Given the description of an element on the screen output the (x, y) to click on. 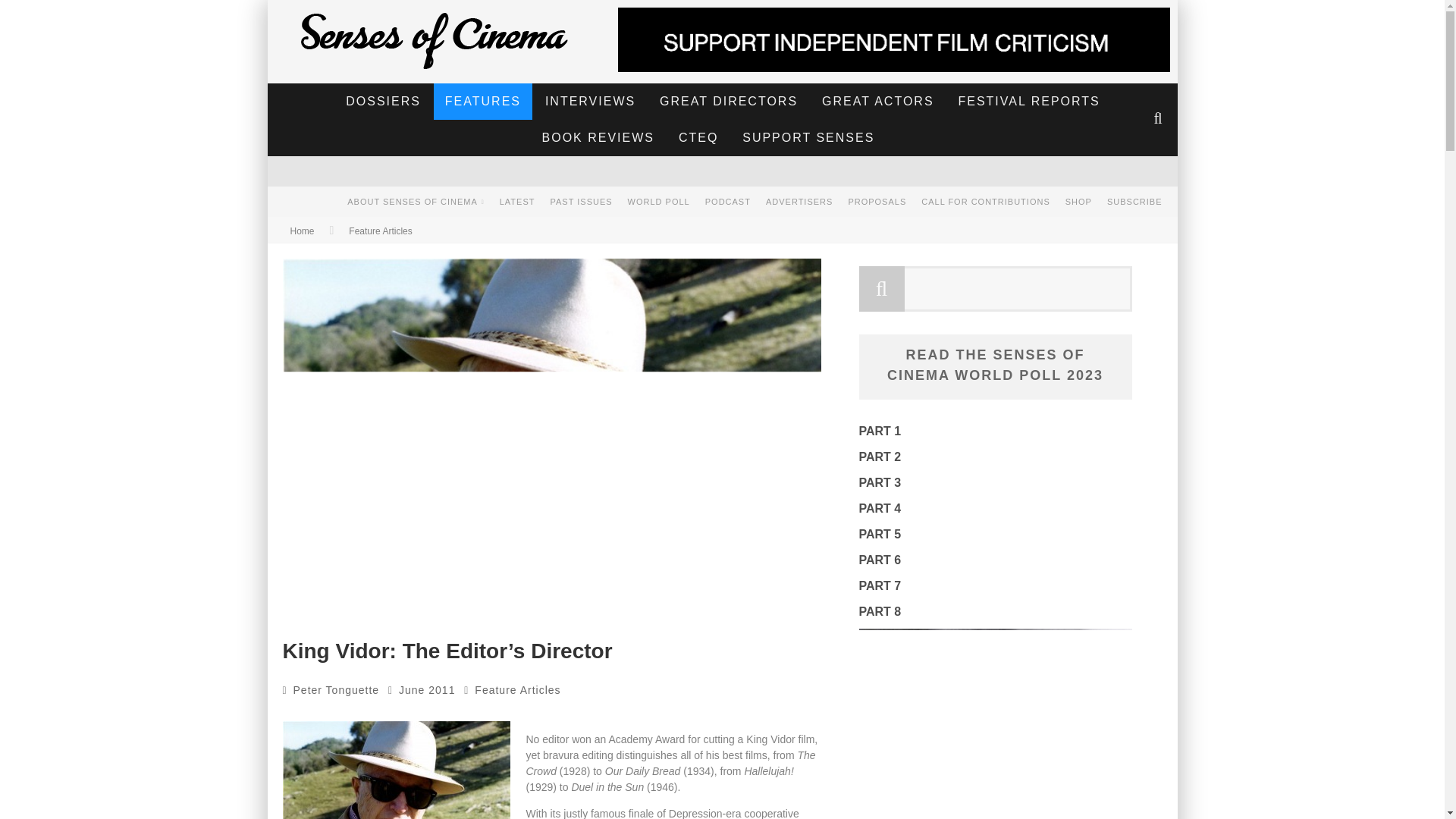
FEATURES (482, 101)
INTERVIEWS (590, 101)
DOSSIERS (383, 101)
